Given the description of an element on the screen output the (x, y) to click on. 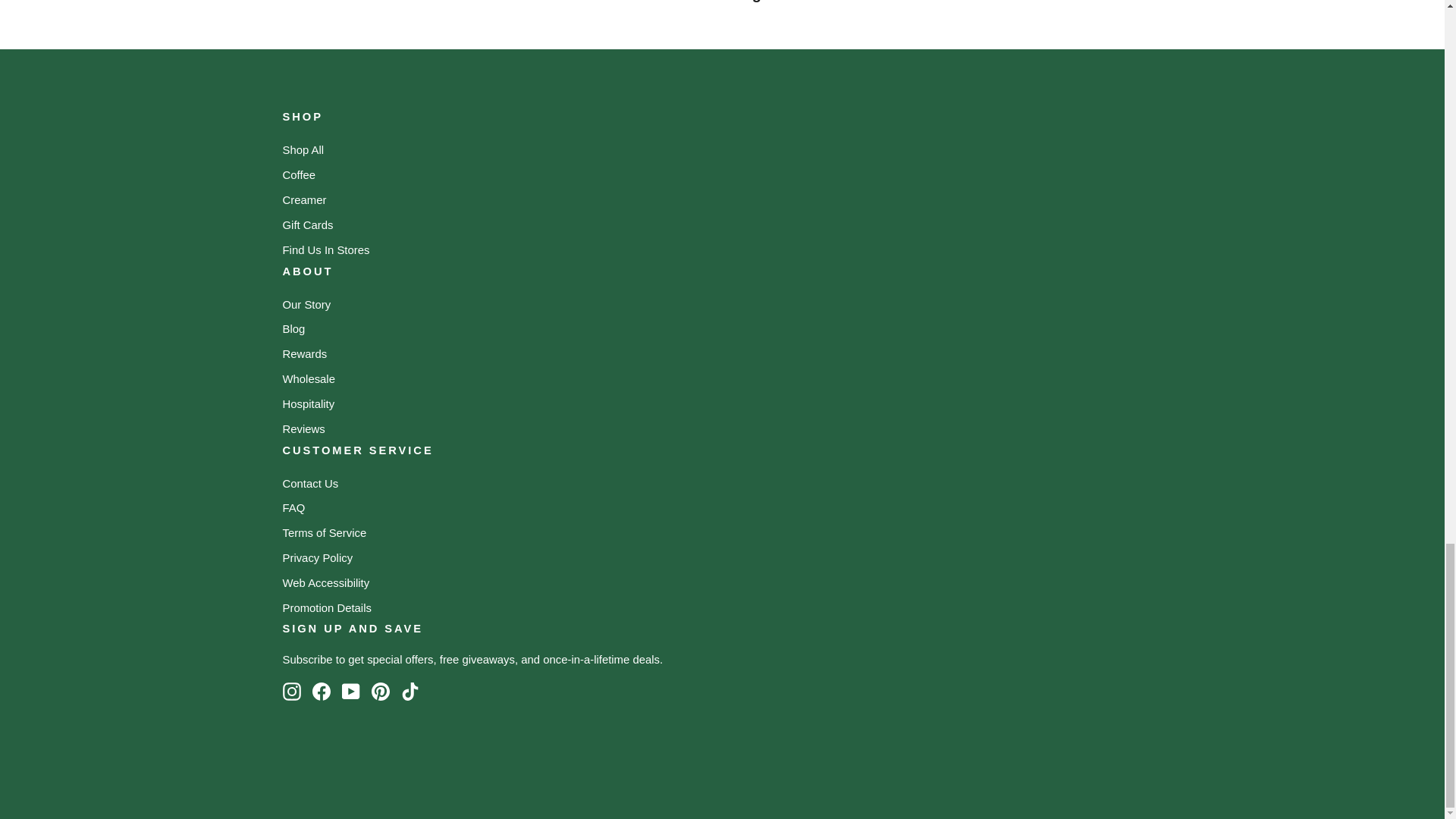
Copper Cow Coffee on Instagram (290, 691)
Copper Cow Coffee on YouTube (349, 691)
Copper Cow Coffee on Facebook (321, 691)
Copper Cow Coffee on Pinterest (380, 691)
Copper Cow Coffee on TikTok (409, 691)
